Given the description of an element on the screen output the (x, y) to click on. 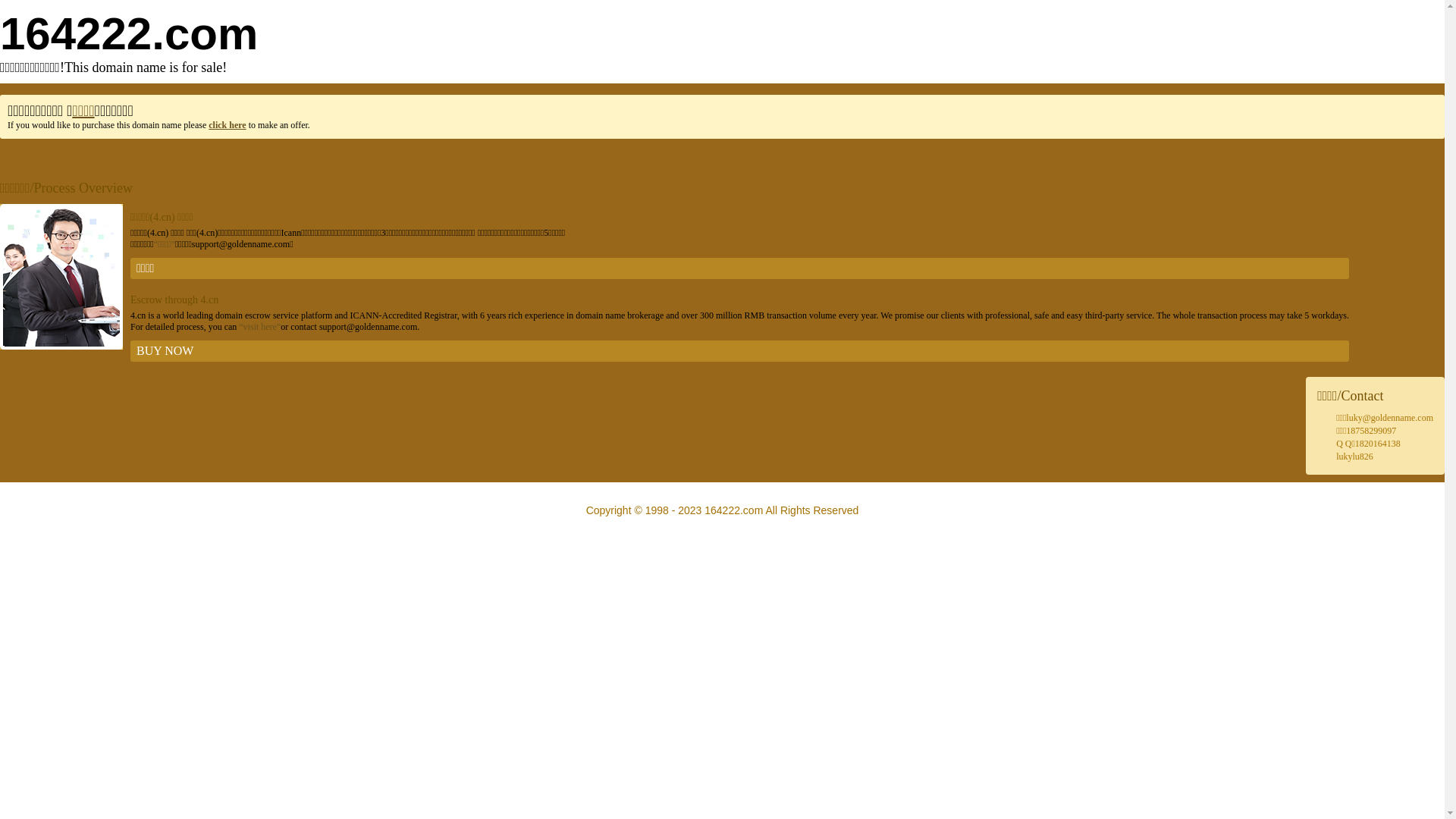
BUY NOW Element type: text (739, 350)
click here Element type: text (226, 124)
